Given the description of an element on the screen output the (x, y) to click on. 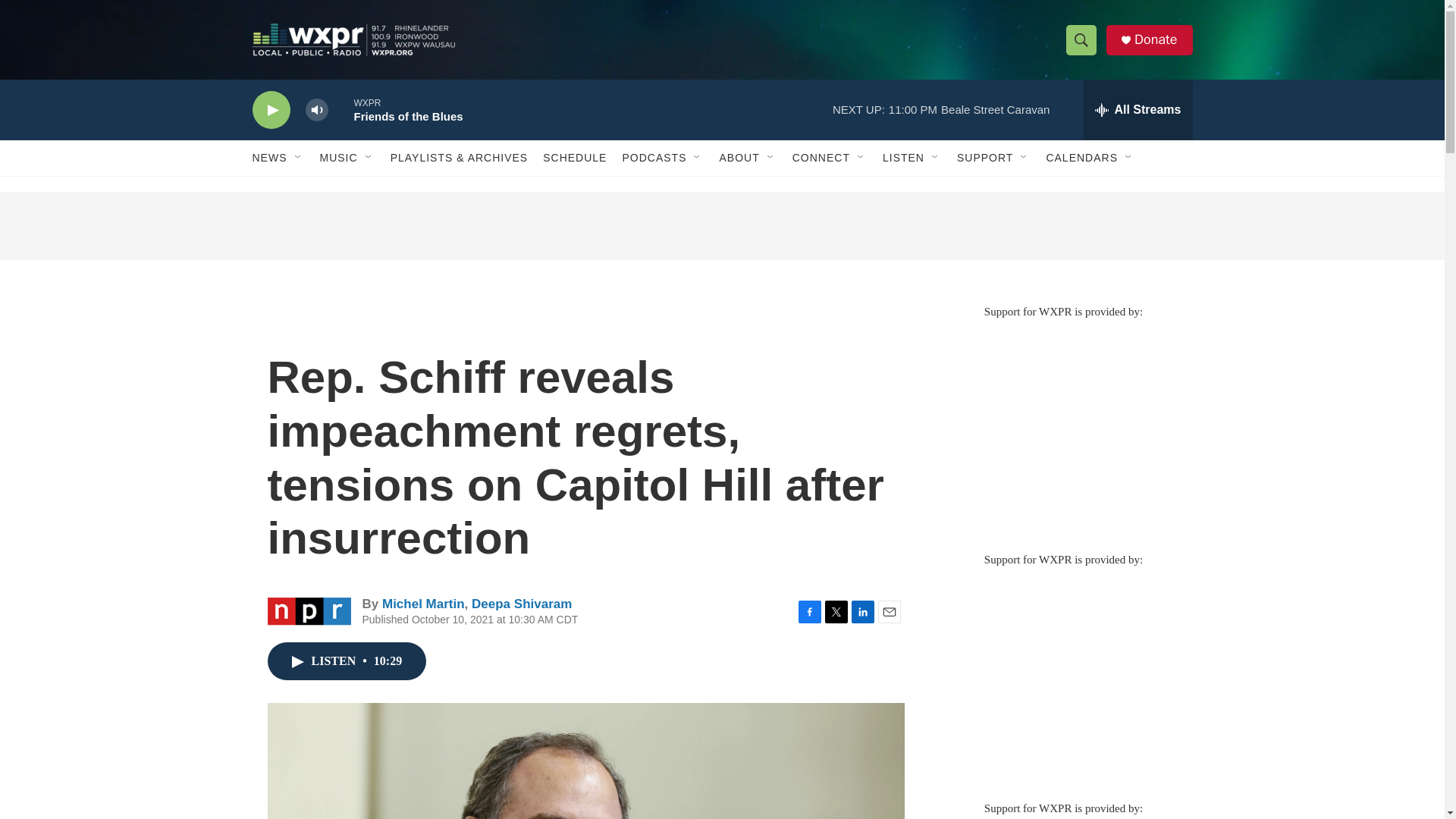
3rd party ad content (721, 225)
3rd party ad content (1062, 428)
3rd party ad content (1062, 677)
